Given the description of an element on the screen output the (x, y) to click on. 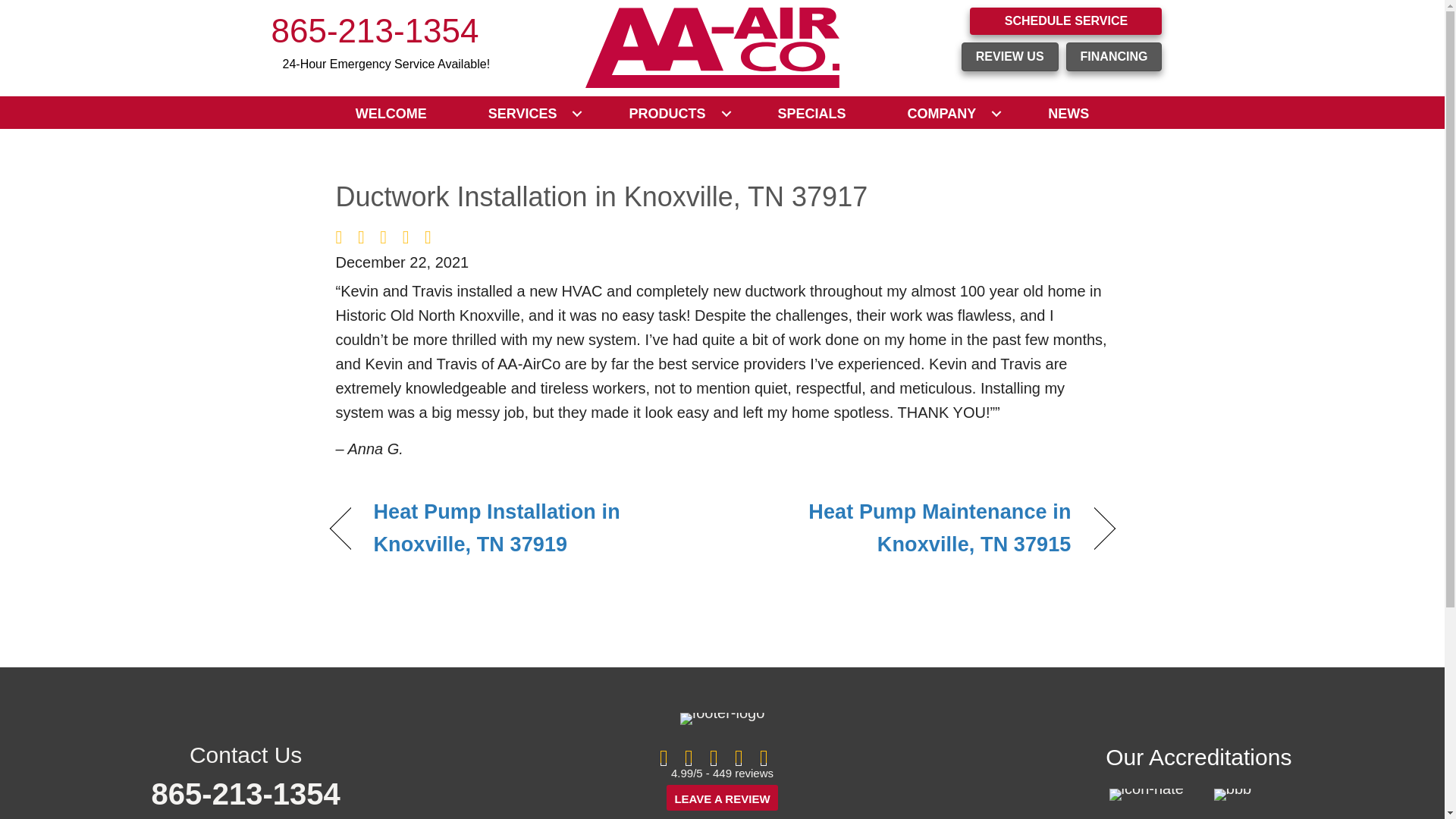
COMPANY (947, 113)
footer-logo (722, 718)
icon-nate (1146, 794)
bbb (1232, 794)
SPECIALS (812, 113)
PRODUCTS (671, 113)
NEWS (1068, 113)
AAR Logo-RGB (712, 47)
SERVICES (528, 113)
WELCOME (390, 113)
